Given the description of an element on the screen output the (x, y) to click on. 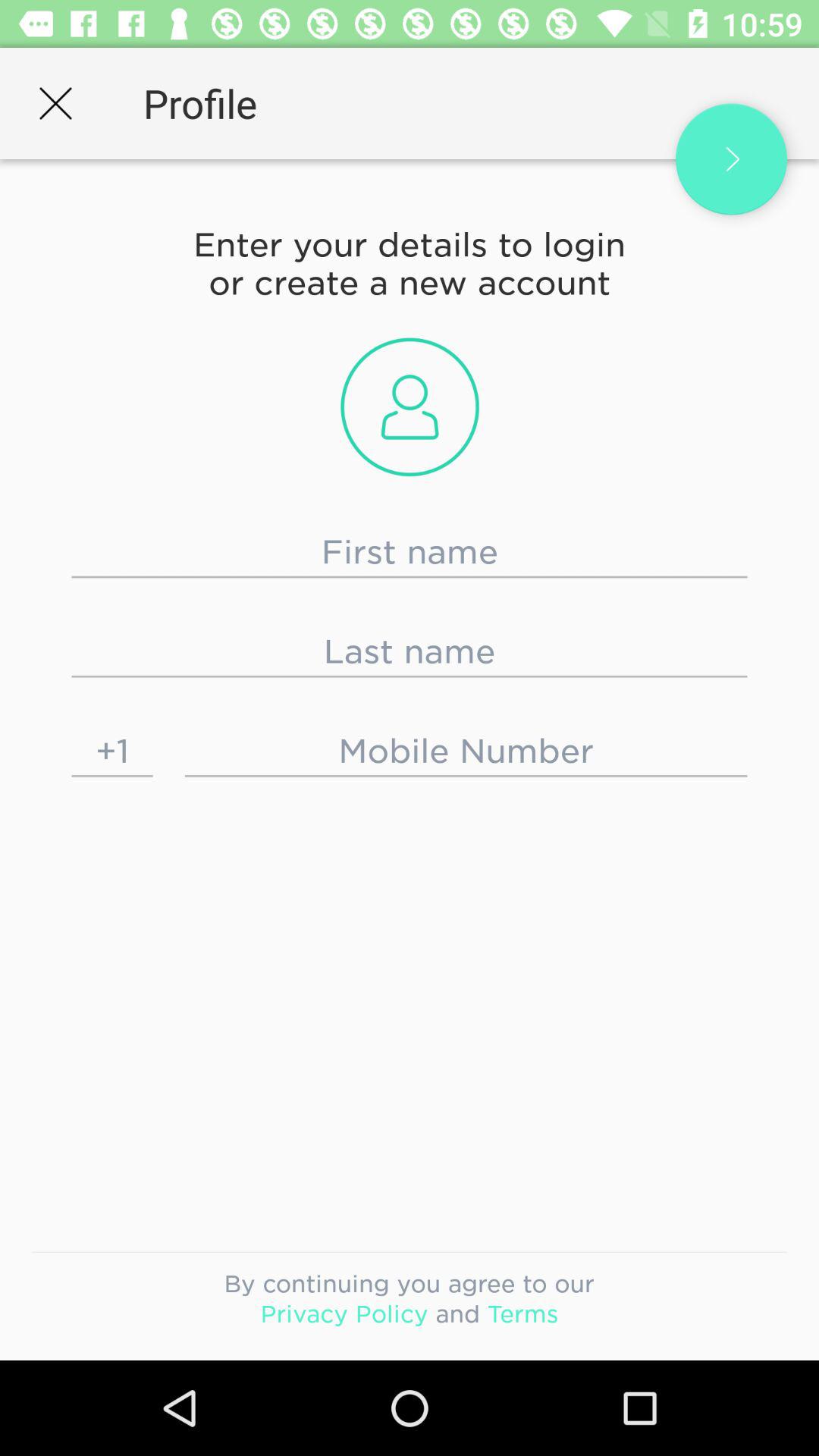
enter last name (409, 651)
